Given the description of an element on the screen output the (x, y) to click on. 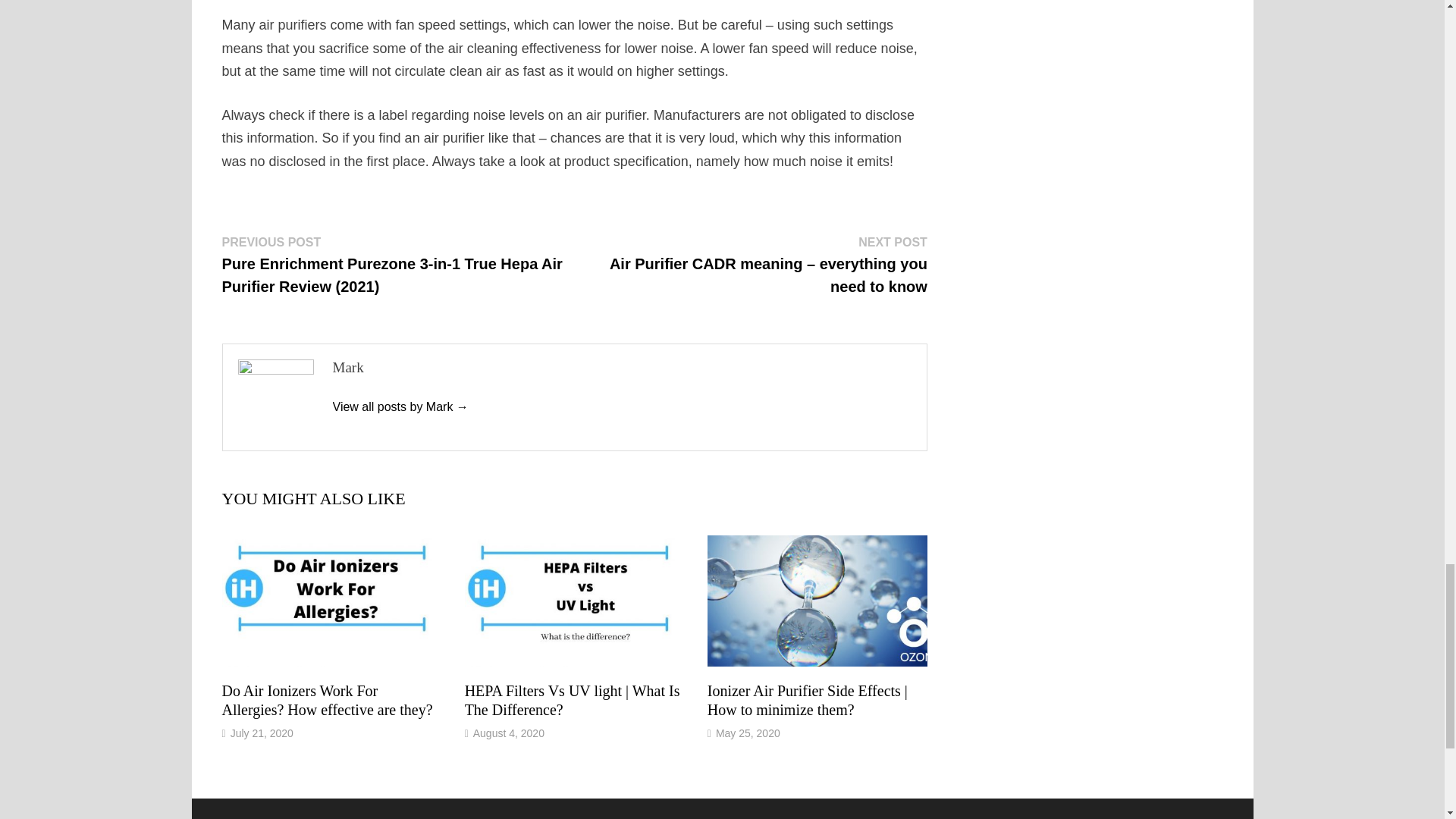
Mark (399, 406)
May 25, 2020 (748, 733)
Do Air Ionizers Work For Allergies? How effective are they? (326, 700)
August 4, 2020 (508, 733)
July 21, 2020 (262, 733)
Do Air Ionizers Work For Allergies? How effective are they? (326, 700)
